Given the description of an element on the screen output the (x, y) to click on. 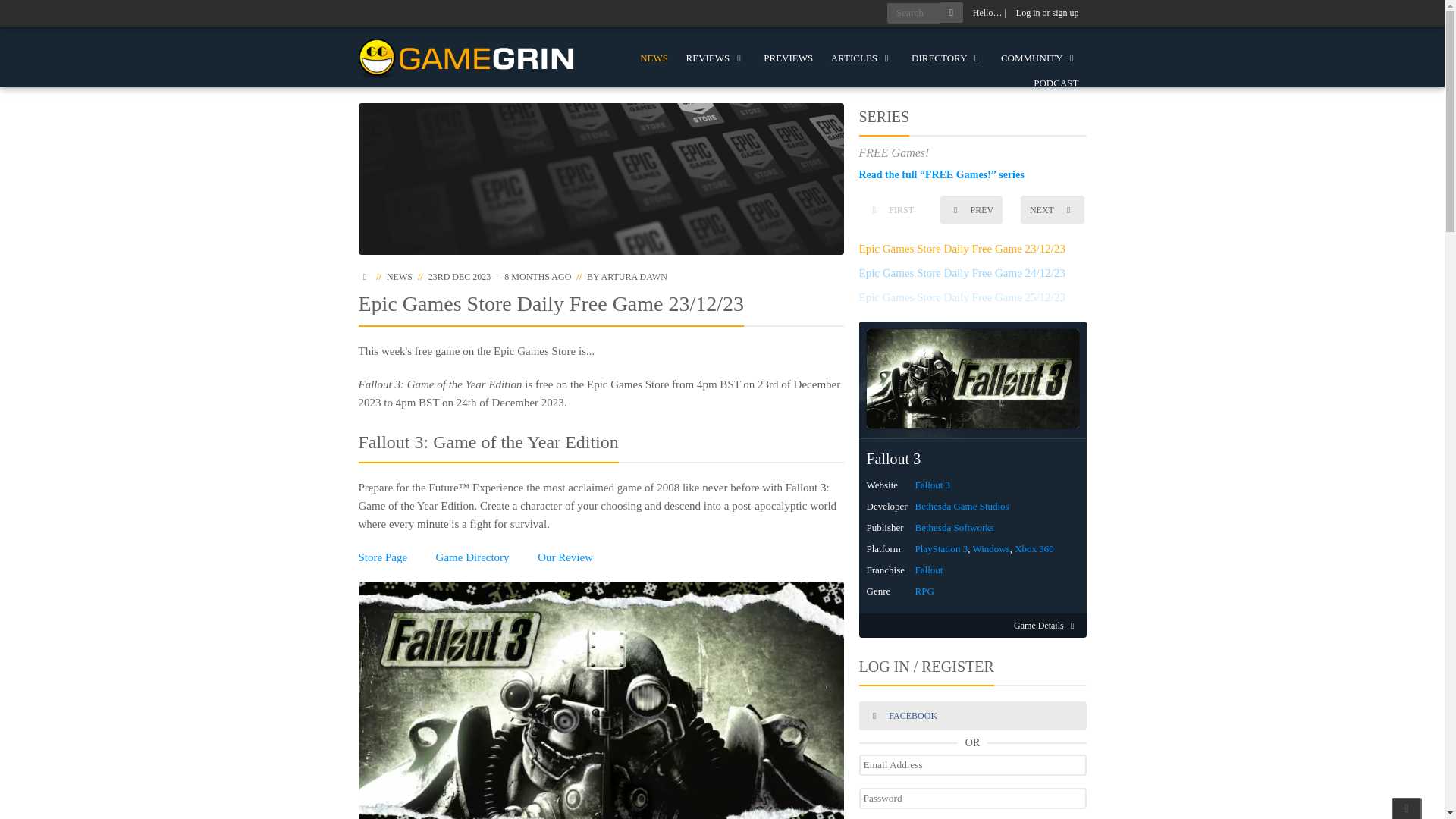
Email Address (972, 764)
Password (972, 798)
NEWS (653, 57)
NEWS (399, 276)
Log in or sign up (1047, 13)
COMMUNITY (1039, 57)
DIRECTORY (947, 57)
PODCAST (1056, 82)
Game Directory (472, 557)
